Given the description of an element on the screen output the (x, y) to click on. 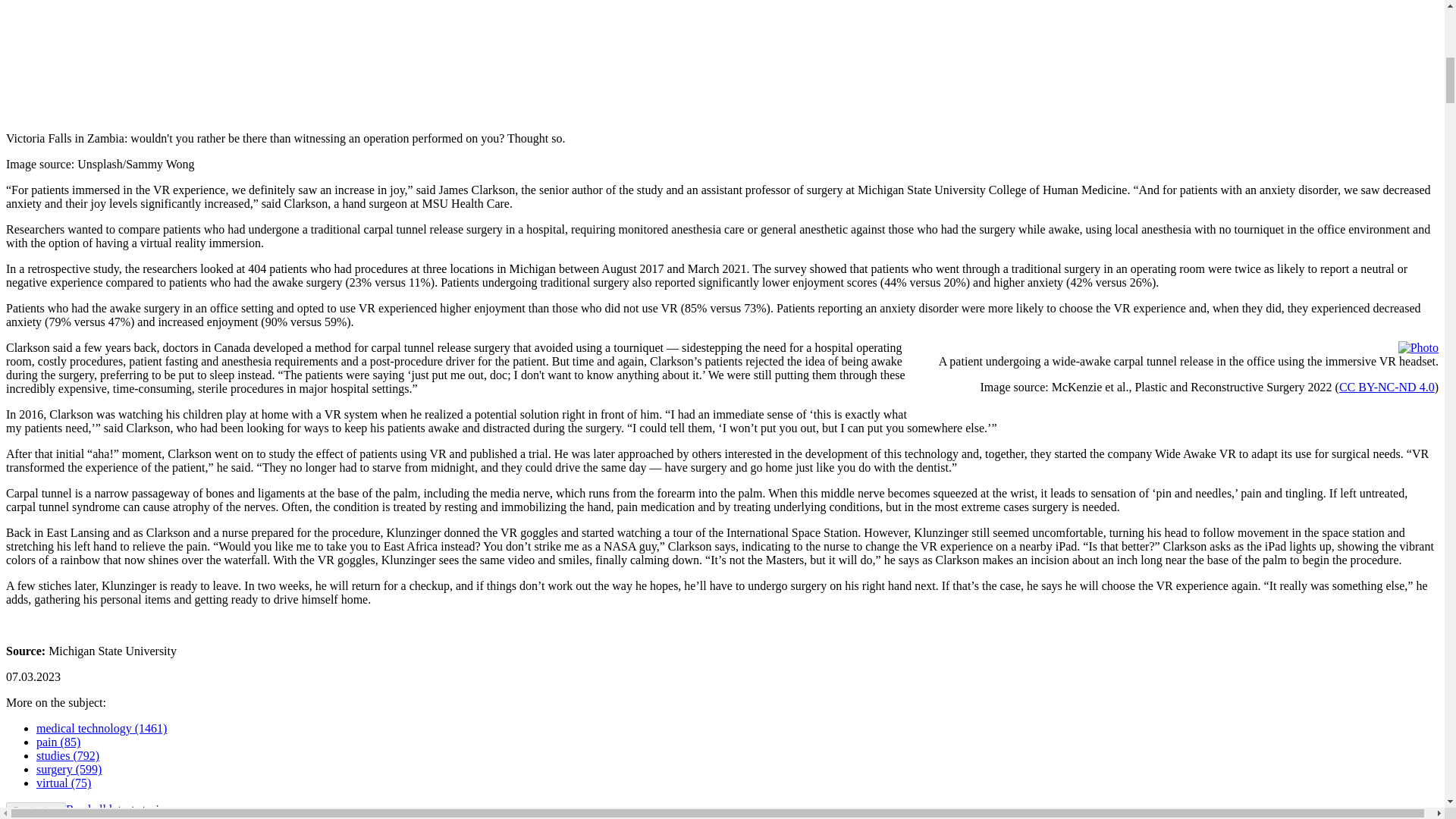
CC BY-NC-ND 4.0 (1386, 386)
Read all latest stories (116, 809)
